Given the description of an element on the screen output the (x, y) to click on. 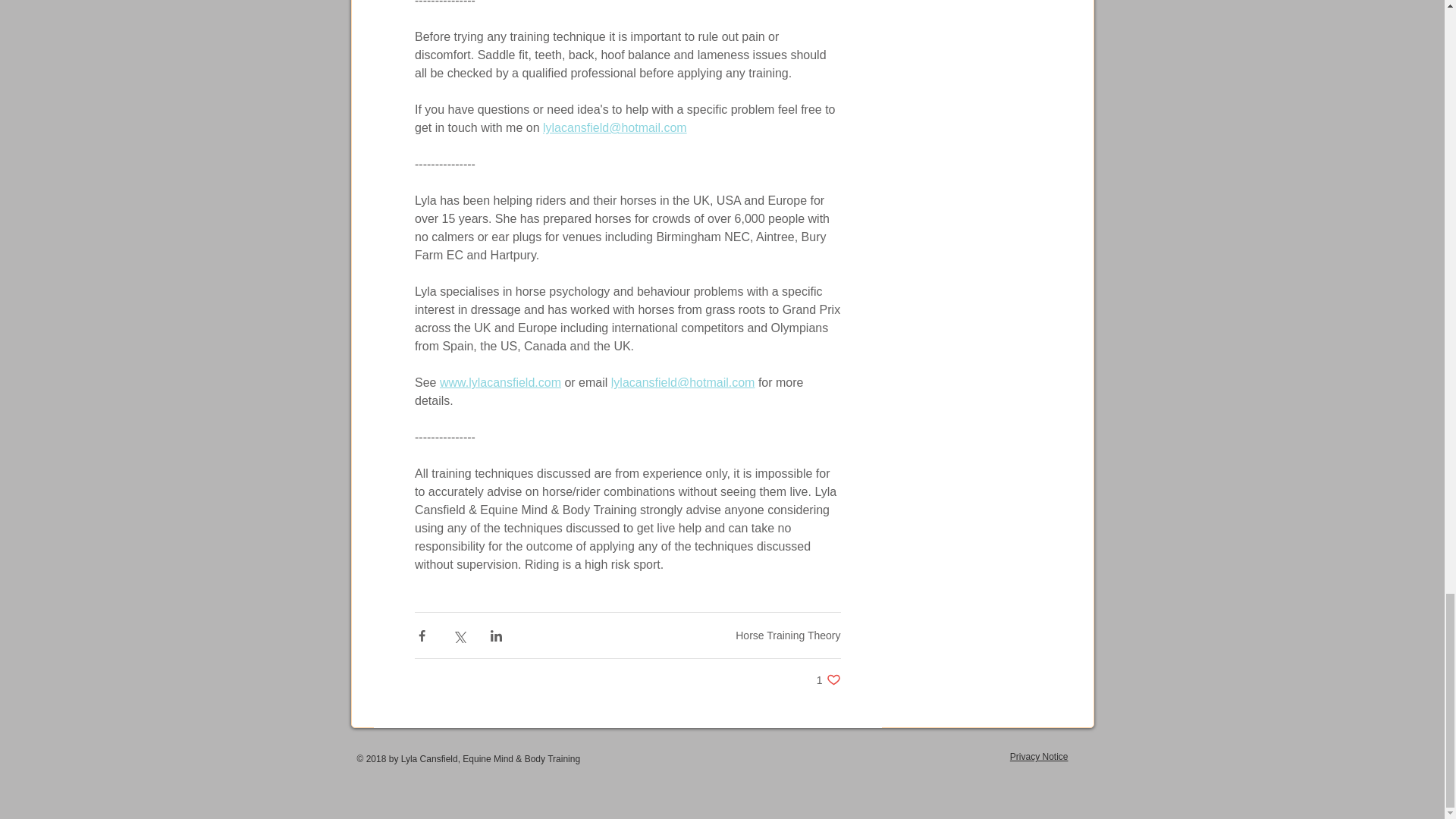
www.lylacansfield.com (499, 382)
Horse Training Theory (787, 635)
